Given the description of an element on the screen output the (x, y) to click on. 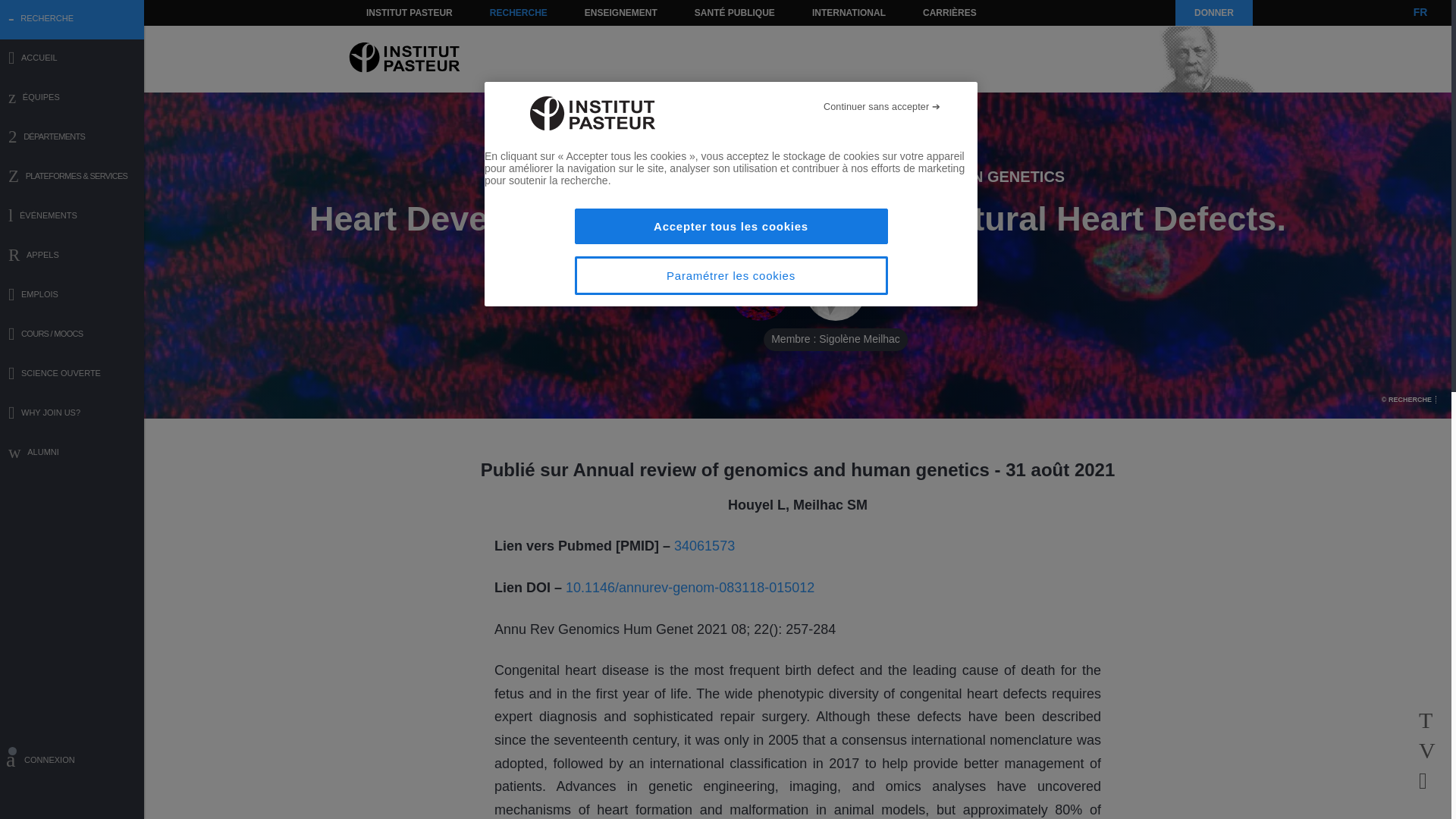
DONNER (1213, 12)
INSTITUT PASTEUR (409, 12)
INTERNATIONAL (848, 12)
SCIENCE OUVERTE (72, 374)
FR (1419, 11)
ALUMNI (72, 454)
Aller au contenu (391, 11)
ACCUEIL (72, 59)
WHY JOIN US? (72, 413)
Aller au contenu (391, 11)
ENSEIGNEMENT (620, 12)
EMPLOIS (72, 296)
RECHERCHE (518, 12)
34061573 (704, 545)
CONNEXION (72, 762)
